Given the description of an element on the screen output the (x, y) to click on. 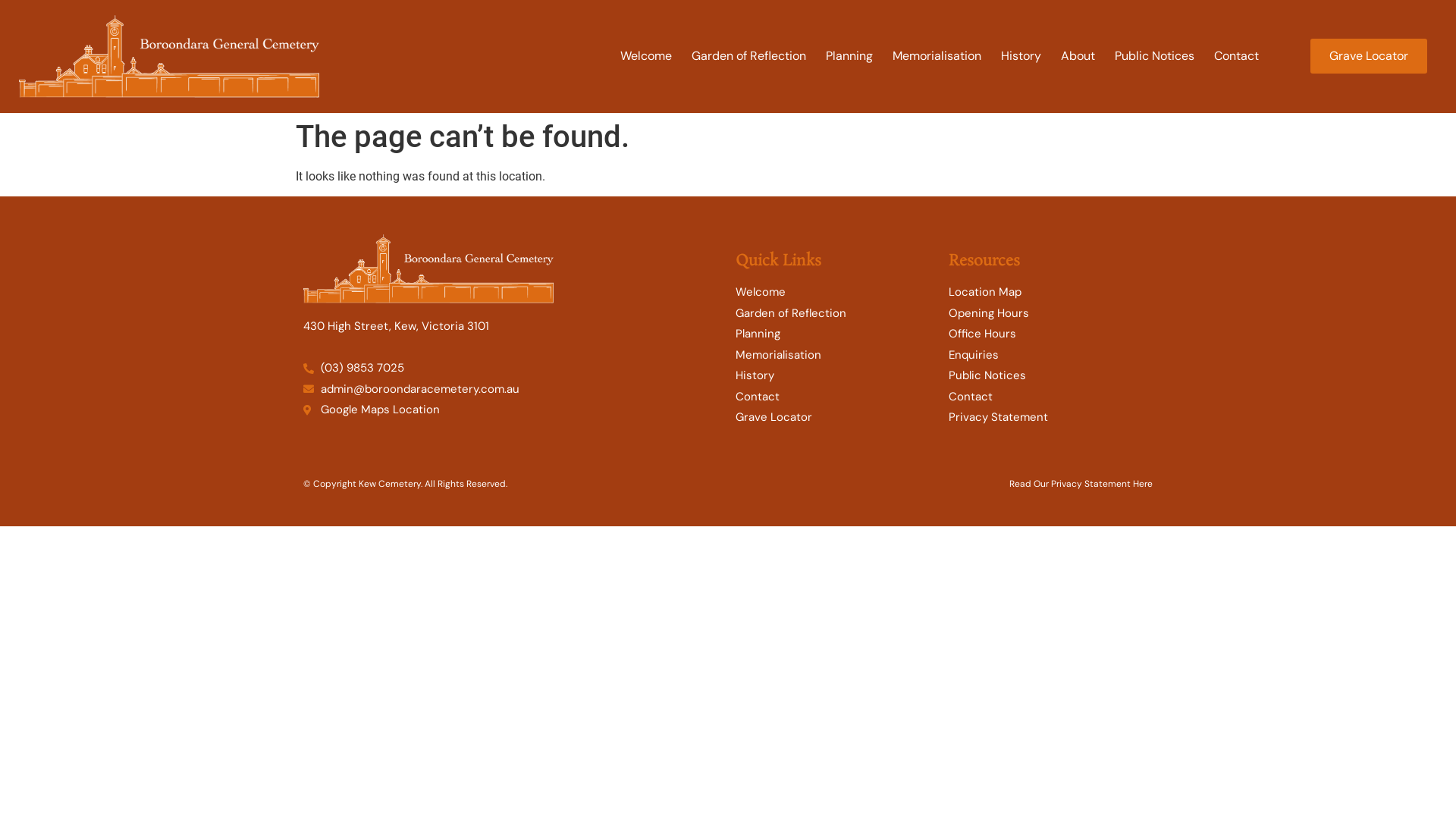
About Element type: text (1077, 55)
Enquiries Element type: text (1048, 355)
Public Notices Element type: text (1154, 55)
Contact Element type: text (1048, 396)
Location Map Element type: text (1048, 292)
Google Maps Location Element type: text (511, 409)
History Element type: text (1021, 55)
Garden of Reflection Element type: text (834, 313)
Grave Locator Element type: text (834, 417)
Kew Cemetery Element type: hover (428, 268)
Kew Cemetery Element type: hover (168, 56)
Welcome Element type: text (645, 55)
Planning Element type: text (848, 55)
Memorialisation Element type: text (834, 355)
Welcome Element type: text (834, 292)
History Element type: text (834, 375)
(03) 9853 7025 Element type: text (511, 367)
admin@boroondaracemetery.com.au Element type: text (511, 389)
Public Notices Element type: text (1048, 375)
Contact Element type: text (834, 396)
Opening Hours Element type: text (1048, 313)
Privacy Statement Element type: text (1048, 417)
Read Our Privacy Statement Here Element type: text (1080, 483)
Grave Locator Element type: text (1368, 55)
Office Hours Element type: text (1048, 333)
Planning Element type: text (834, 333)
Contact Element type: text (1236, 55)
Garden of Reflection Element type: text (748, 55)
Memorialisation Element type: text (936, 55)
